Given the description of an element on the screen output the (x, y) to click on. 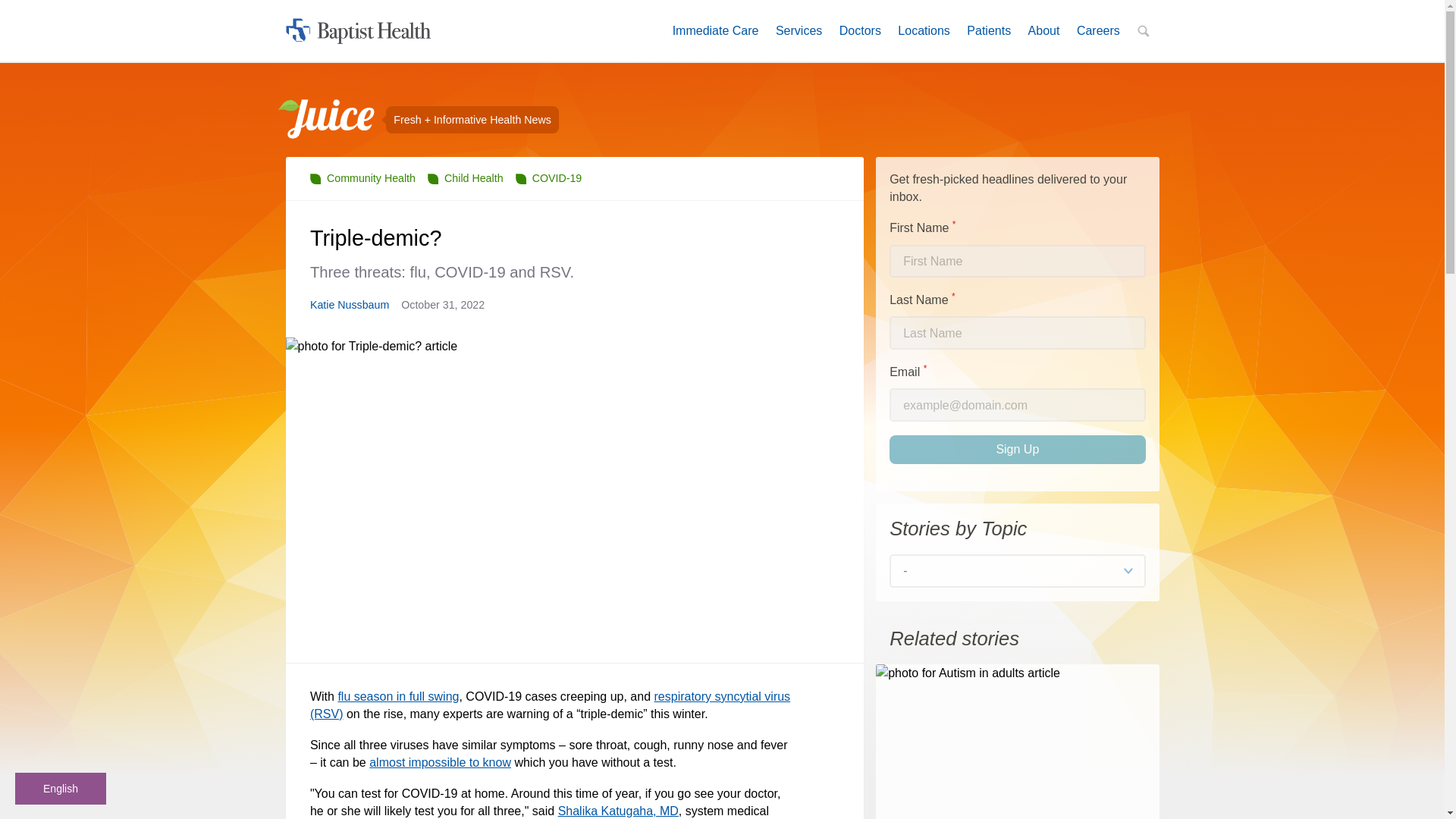
Last Name (1016, 332)
EmailAddress (1016, 404)
almost impossible to know (799, 30)
Skip to main content (440, 762)
Sign Up (1098, 30)
Shalika Katugaha, MD (548, 177)
Sign Up (715, 30)
Click to select juice category (1016, 449)
Home: Baptist Health (617, 810)
